Given the description of an element on the screen output the (x, y) to click on. 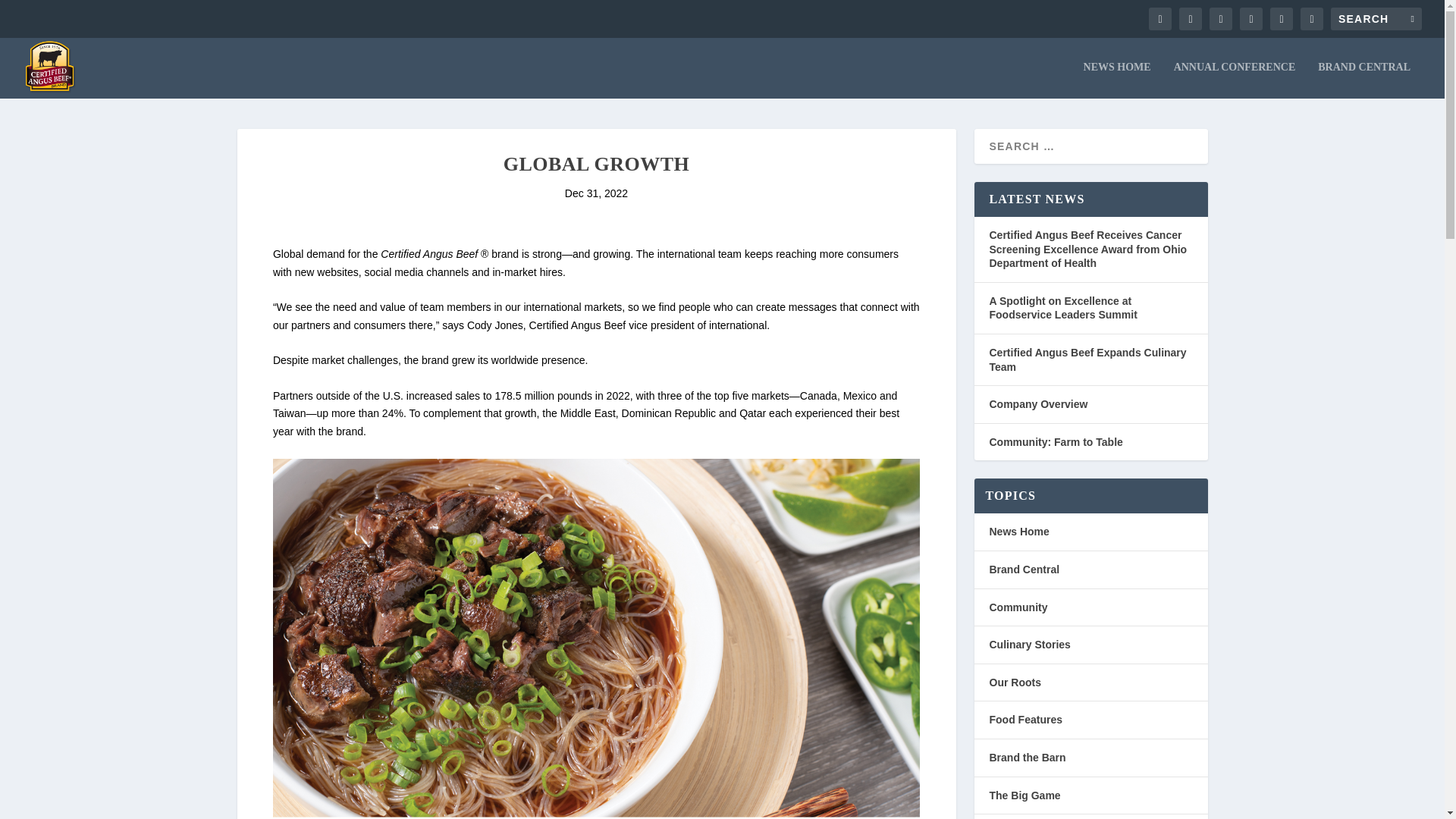
Search for: (1376, 18)
NEWS HOME (1117, 79)
ANNUAL CONFERENCE (1234, 79)
BRAND CENTRAL (1363, 79)
